Given the description of an element on the screen output the (x, y) to click on. 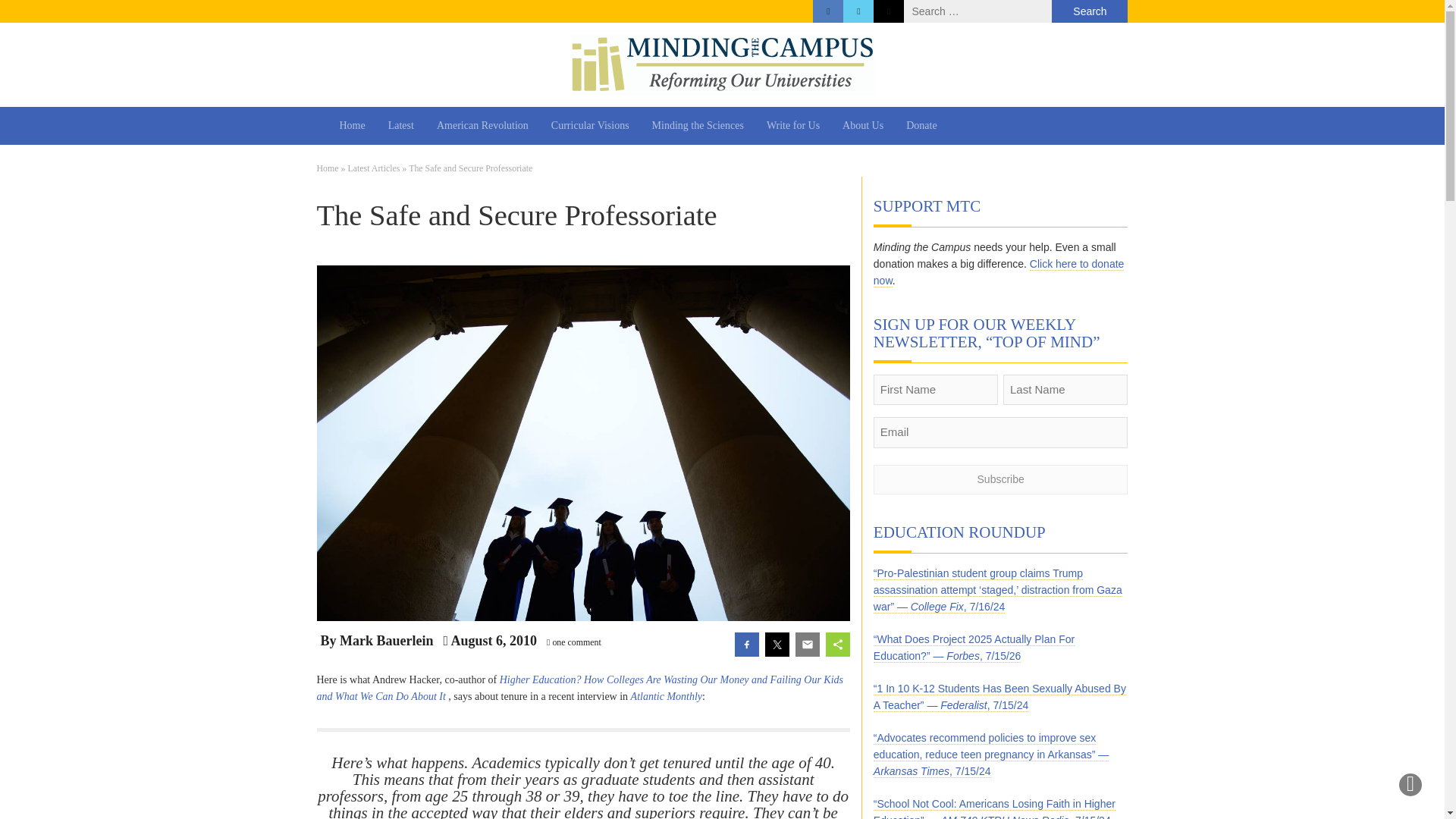
Write for Us (793, 125)
Minding the Sciences (697, 125)
Latest Articles (372, 167)
one comment (575, 642)
By Mark Bauerlein (376, 642)
Search (1088, 11)
Home (328, 167)
Latest (401, 125)
Latest (401, 125)
August 6, 2010 (494, 640)
Minding the Sciences (697, 125)
About Us (863, 125)
Write for Us (793, 125)
About Us (863, 125)
Search (1088, 11)
